Given the description of an element on the screen output the (x, y) to click on. 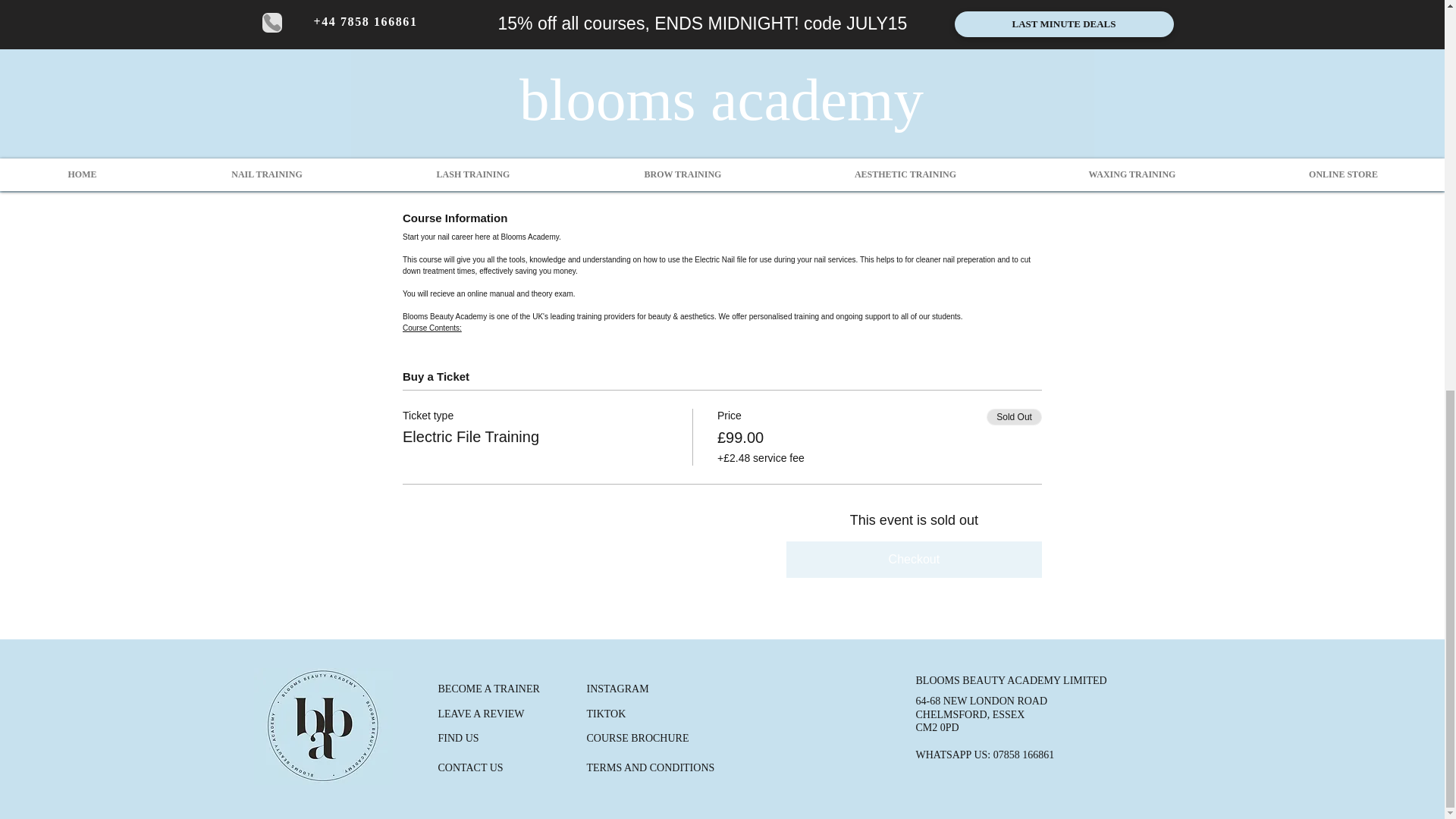
BECOME A TRAINER (489, 688)
Checkout (914, 559)
